Given the description of an element on the screen output the (x, y) to click on. 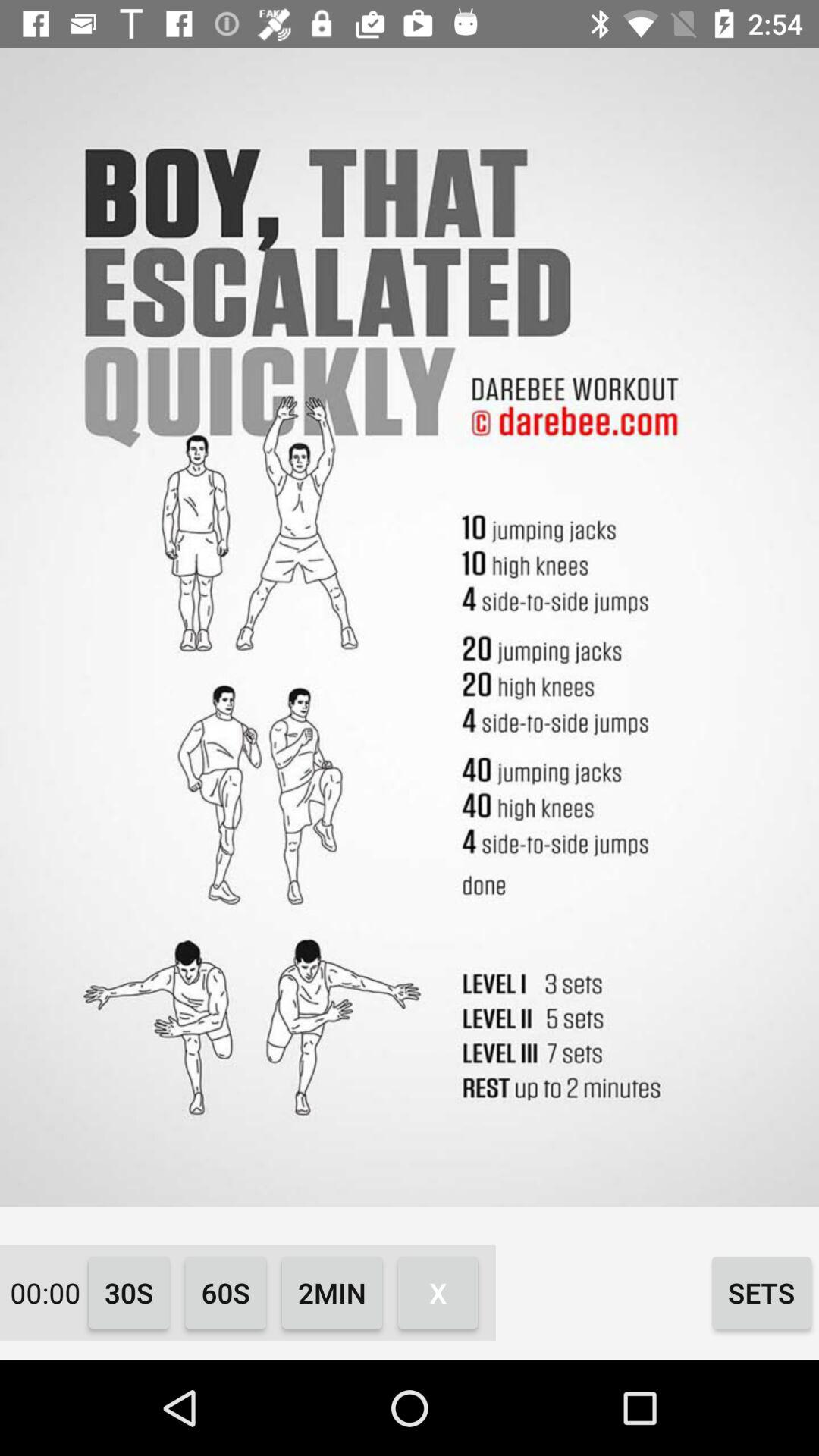
choose the 60s icon (225, 1292)
